Given the description of an element on the screen output the (x, y) to click on. 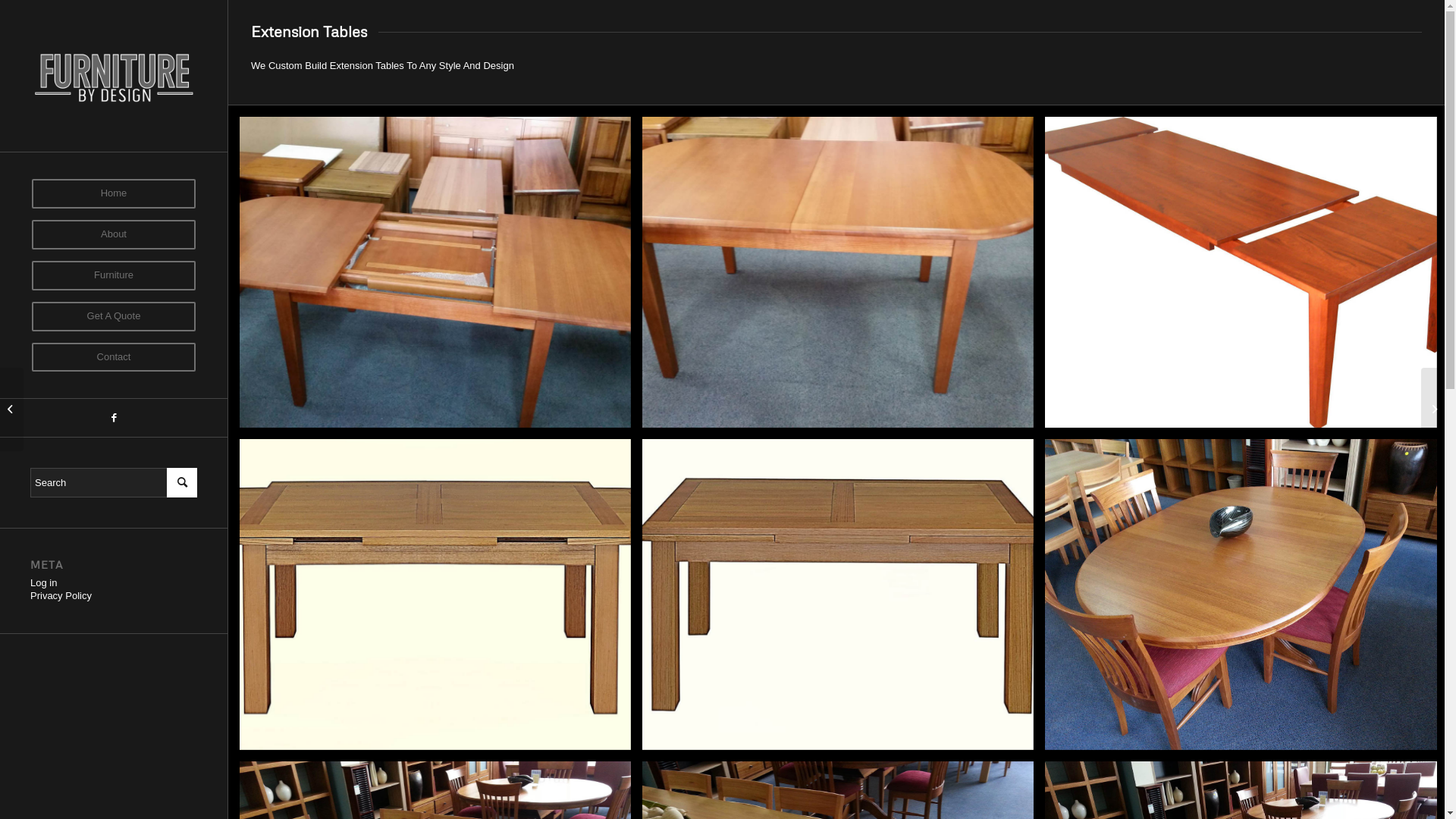
Furniture_By_Design-Geelong Element type: hover (113, 75)
Oval Extension Open Element type: hover (434, 271)
Oval Extension Closed Element type: hover (837, 271)
Vencie Extension Table Open Element type: hover (440, 600)
Panel Extension Table Element type: hover (1240, 271)
Panel Extension Table Element type: hover (1245, 277)
Brighton Round Extension Table Element type: hover (1245, 600)
About Element type: text (113, 239)
Oval Extension Closed Element type: hover (843, 277)
Brighton Round Extension Table Element type: hover (1240, 594)
Venice Entension Table Closed Element type: hover (843, 600)
Vencie Extension Table Open Element type: hover (434, 594)
Get A Quote Element type: text (113, 321)
Facebook Element type: hover (113, 417)
Venice Entension Table Closed Element type: hover (837, 594)
Privacy Policy Element type: text (60, 595)
Log in Element type: text (43, 582)
Oval Extension Open Element type: hover (440, 277)
Furniture Element type: text (113, 280)
Home Element type: text (113, 193)
Contact Element type: text (113, 362)
